Given the description of an element on the screen output the (x, y) to click on. 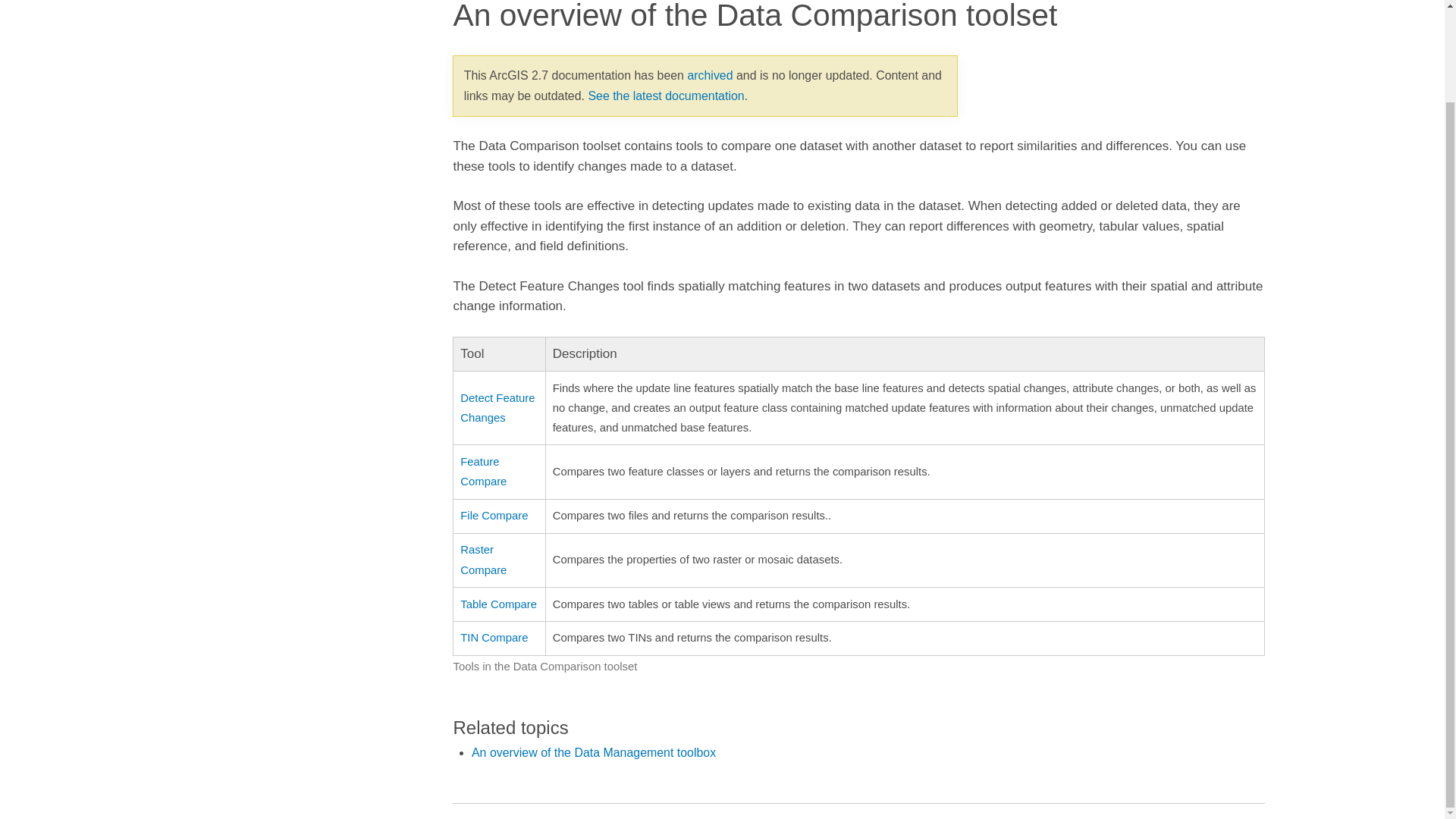
Raster Compare (483, 559)
archived (709, 74)
TIN Compare (493, 637)
Table Compare (498, 604)
An overview of the Data Management toolbox (593, 752)
See the latest documentation (666, 95)
File Compare (493, 515)
Detect Feature Changes (497, 408)
Feature Compare (483, 471)
